Given the description of an element on the screen output the (x, y) to click on. 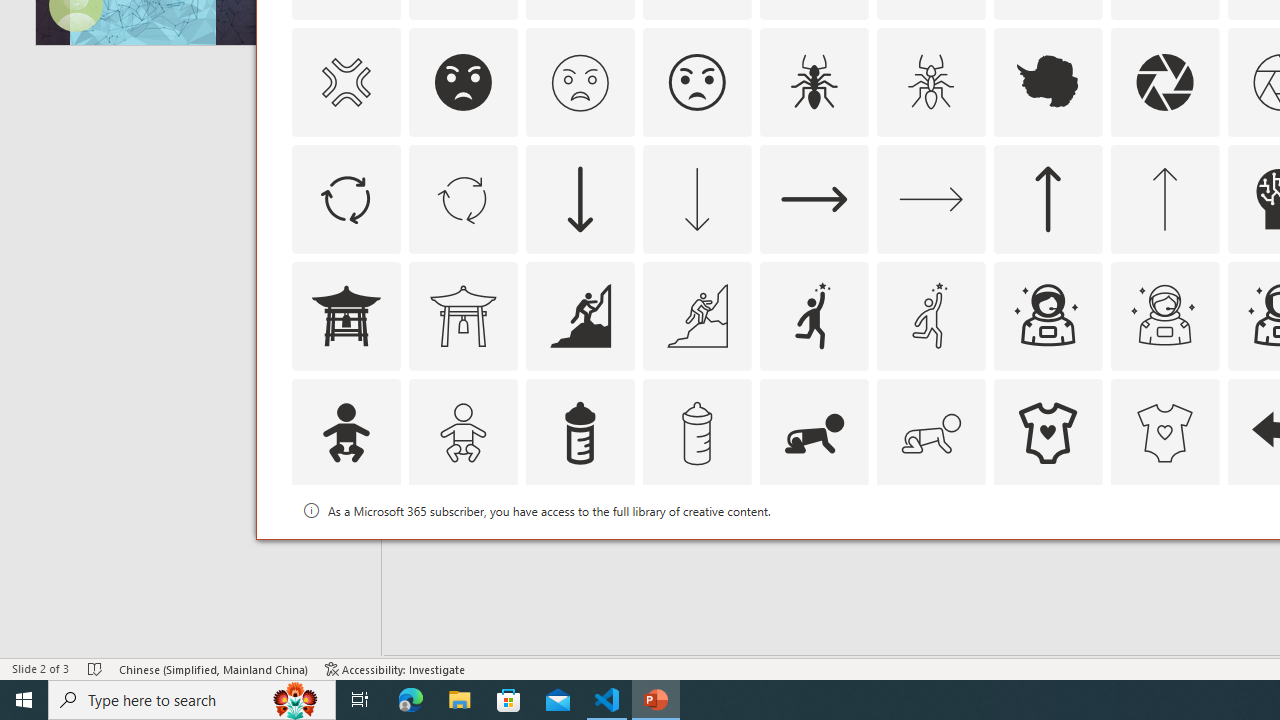
AutomationID: Icons_ArrowCircle_M (463, 198)
AutomationID: Icons_AsianTemple1_M (463, 316)
AutomationID: Icons_Aspiration1 (813, 316)
